Given the description of an element on the screen output the (x, y) to click on. 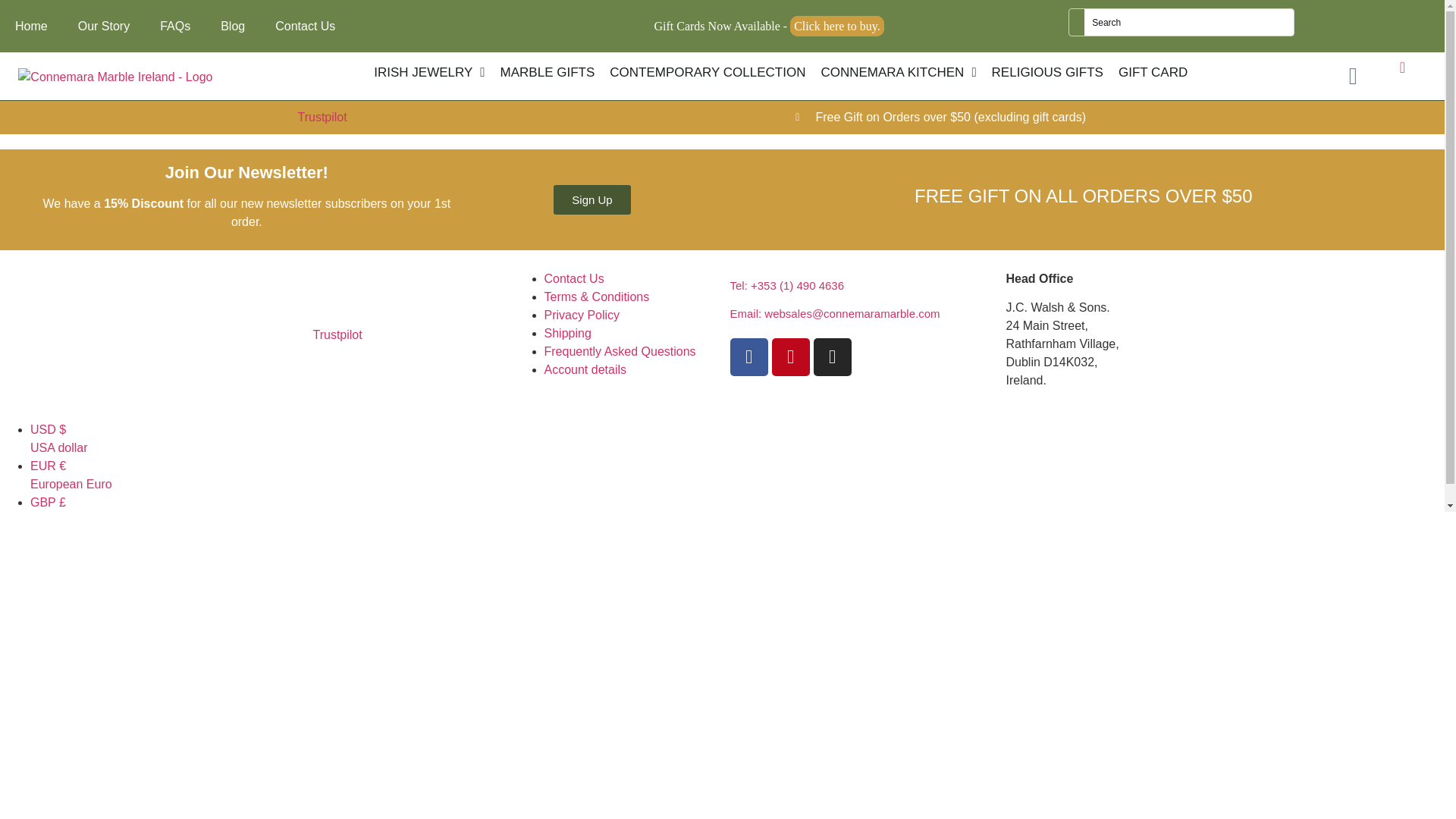
Search (1189, 22)
CONTEMPORARY COLLECTION (707, 72)
Click here to buy. (836, 25)
Blog (232, 26)
Search (1189, 22)
RELIGIOUS GIFTS (1047, 72)
Contact Us (305, 26)
FAQs (174, 26)
Home (31, 26)
CONNEMARA KITCHEN (898, 72)
GIFT CARD (1152, 72)
Our Story (103, 26)
IRISH JEWELRY (429, 72)
MARBLE GIFTS (547, 72)
